Given the description of an element on the screen output the (x, y) to click on. 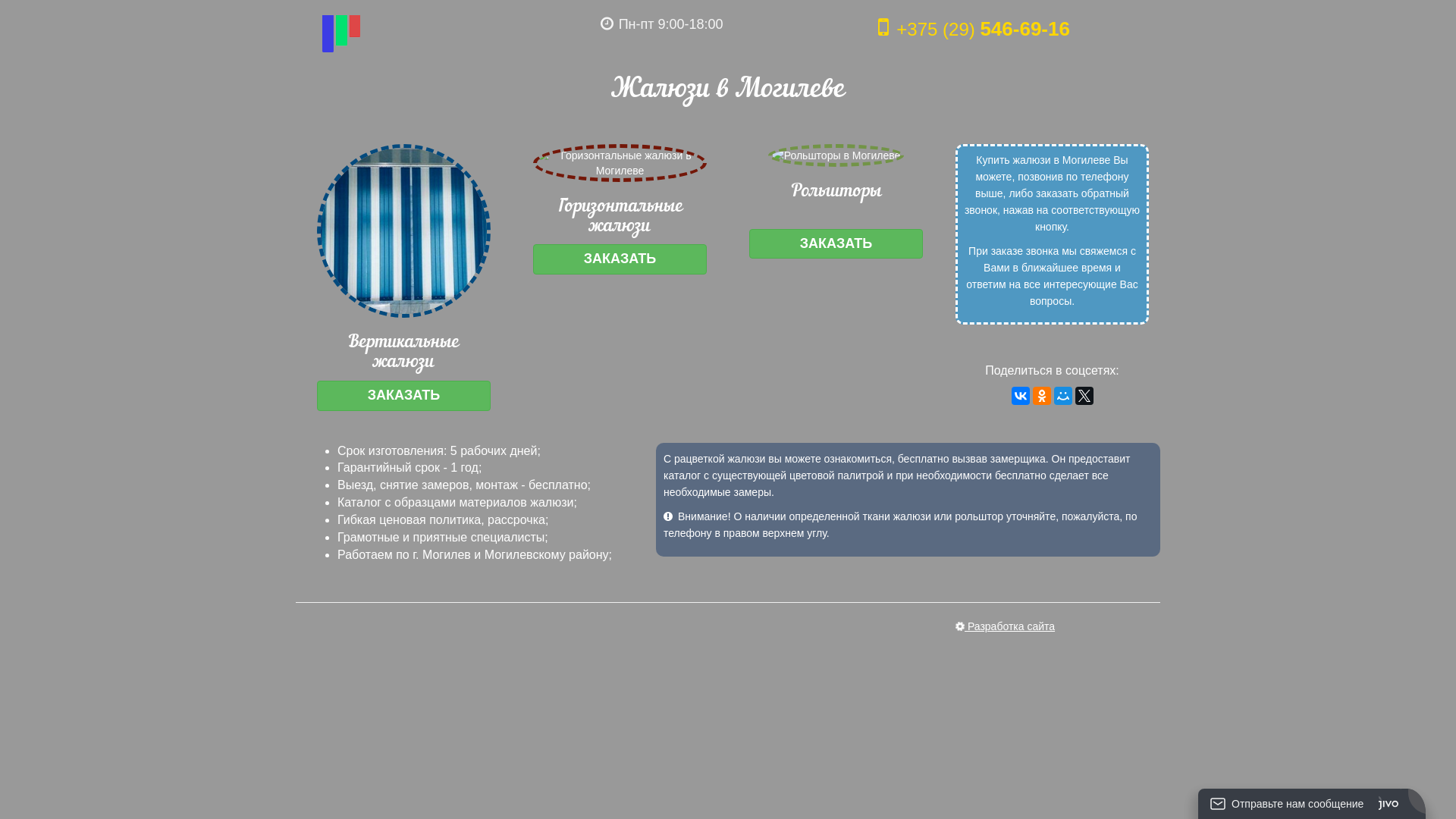
Twitter Element type: hover (1084, 395)
